Given the description of an element on the screen output the (x, y) to click on. 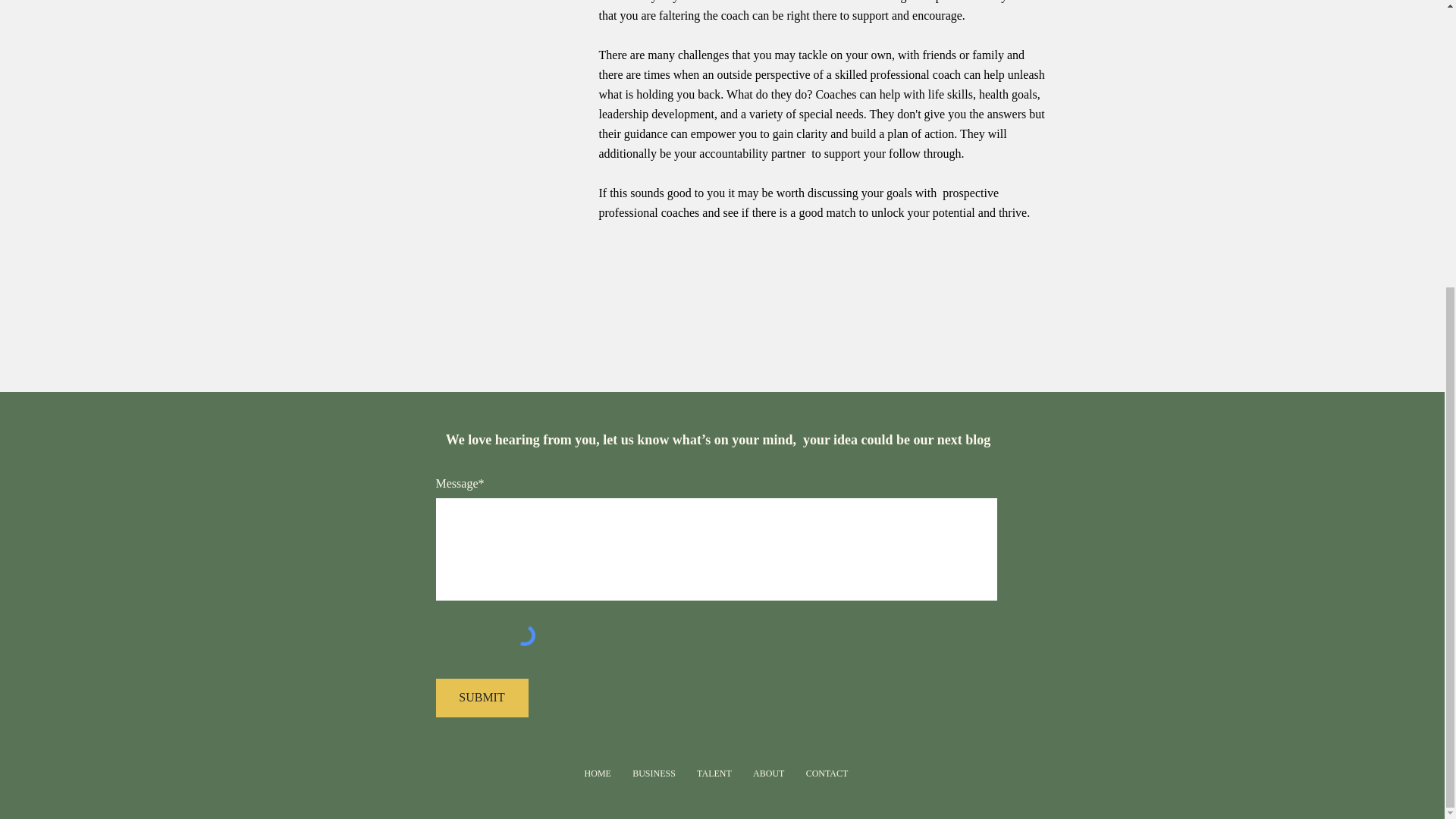
TALENT (713, 773)
HOME (597, 773)
SUBMIT (481, 697)
ABOUT (768, 773)
BUSINESS (653, 773)
CONTACT (826, 773)
